Given the description of an element on the screen output the (x, y) to click on. 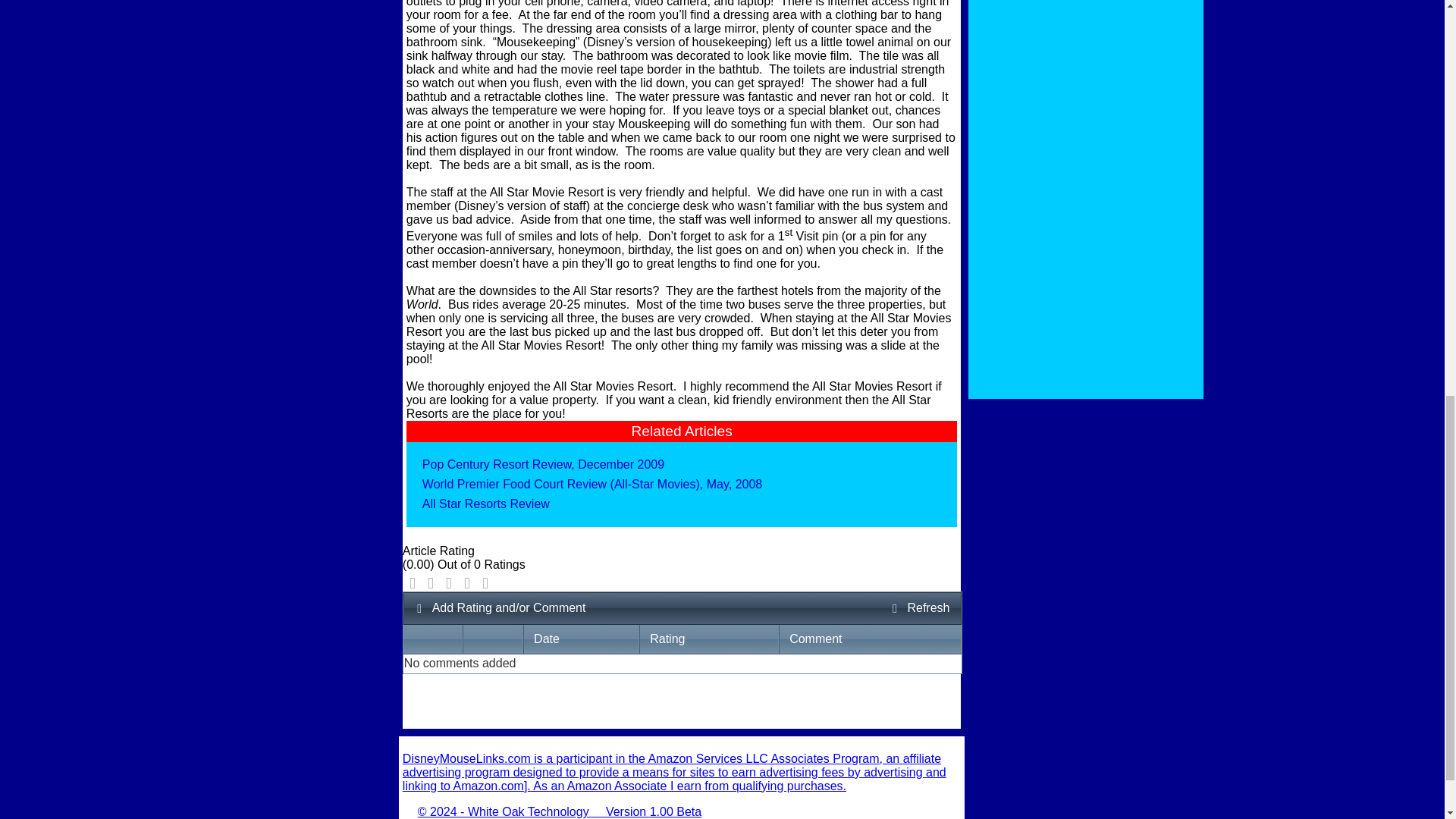
0 (448, 582)
0 (485, 582)
All Star Resorts Review (486, 503)
Refresh (920, 608)
Refresh (920, 608)
0 (467, 582)
0 (430, 582)
0 (412, 582)
Pop Century Resort Review, December 2009 (542, 463)
